Given the description of an element on the screen output the (x, y) to click on. 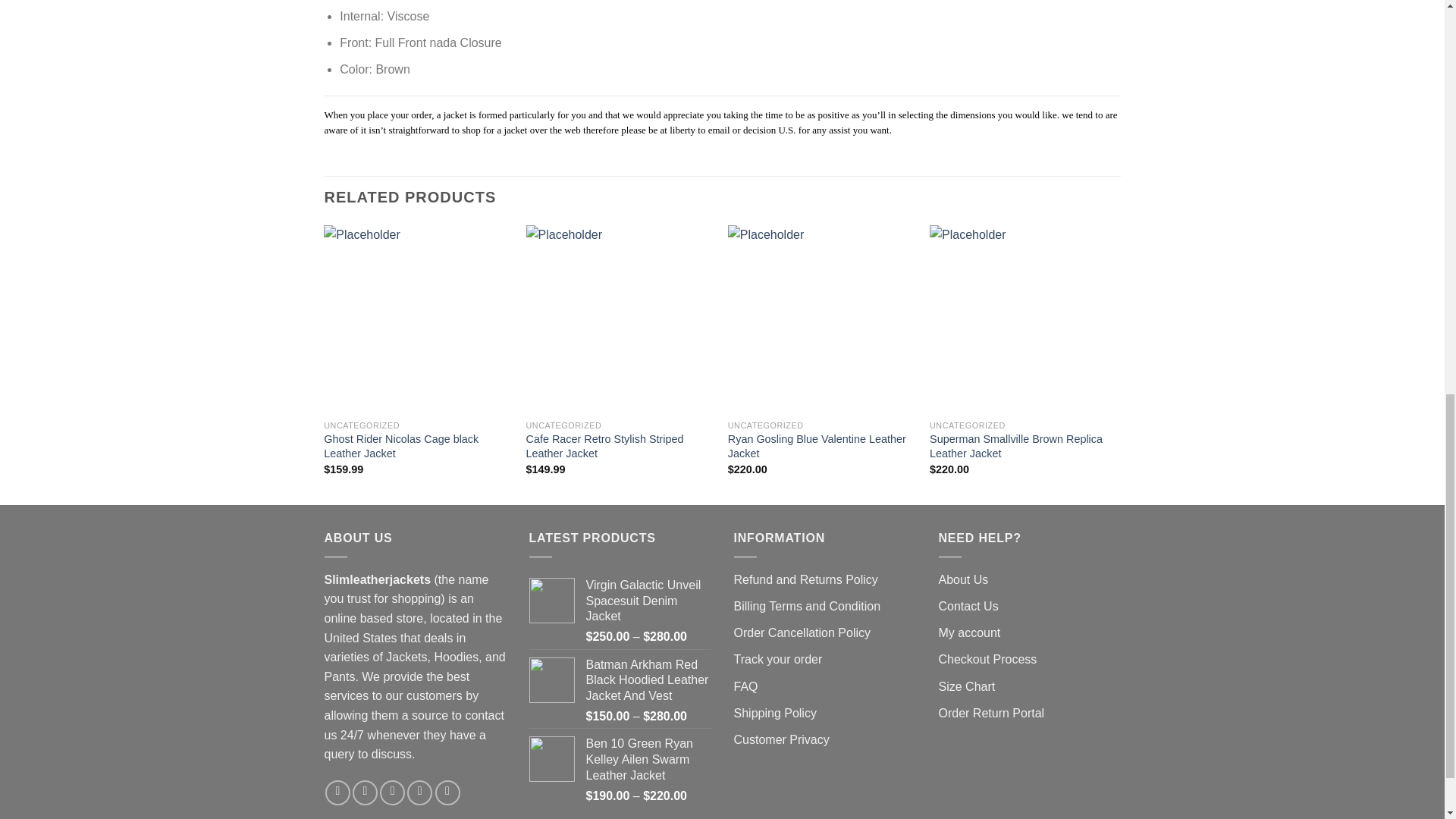
Follow on Facebook (337, 792)
